Given the description of an element on the screen output the (x, y) to click on. 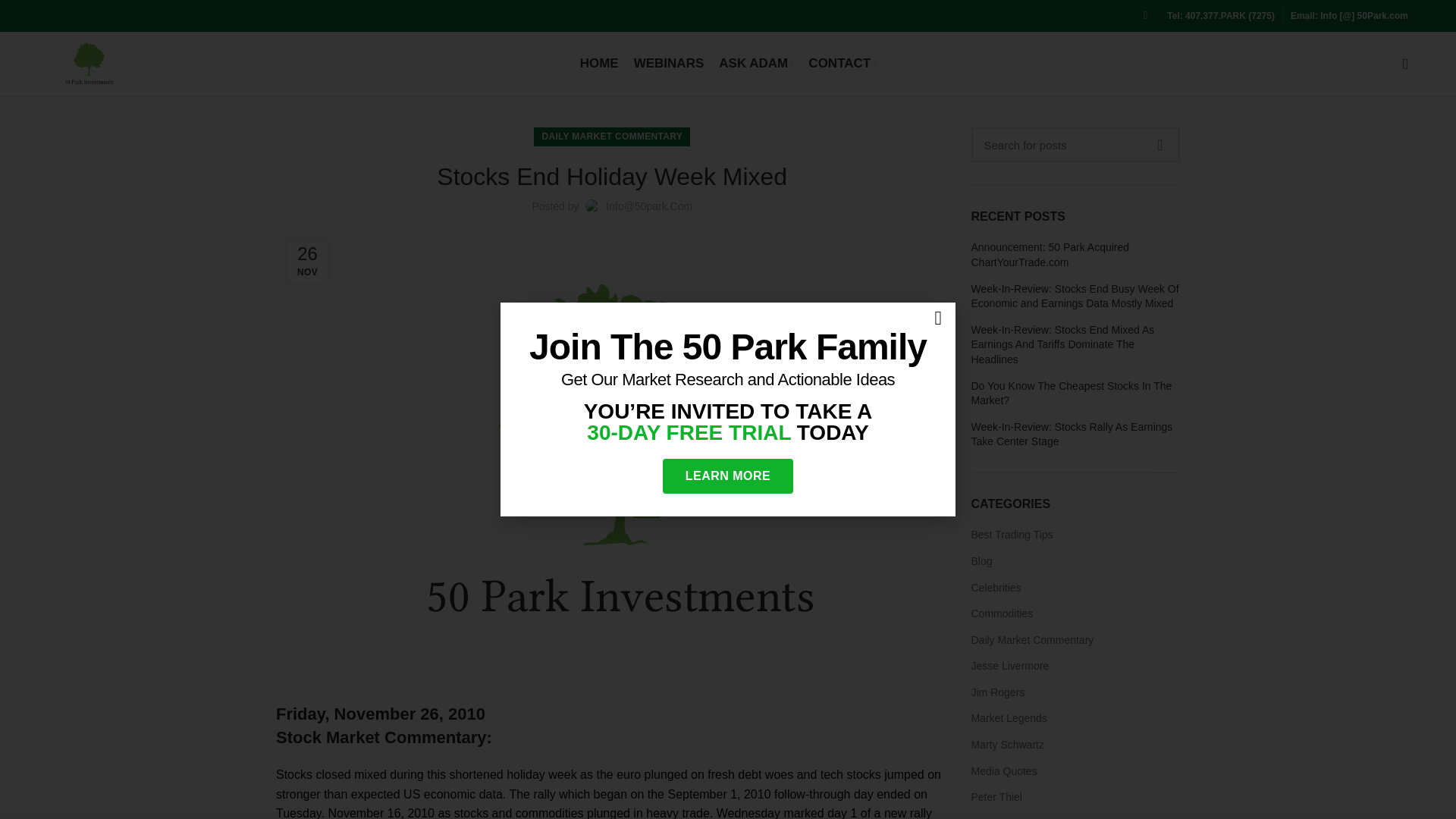
SEARCH (1158, 144)
Search for posts (1075, 144)
DAILY MARKET COMMENTARY (611, 136)
WEBINARS (668, 63)
ASK ADAM (755, 63)
HOME (599, 63)
Announcement: 50 Park Acquired ChartYourTrade.com (1075, 255)
CONTACT (841, 63)
